Given the description of an element on the screen output the (x, y) to click on. 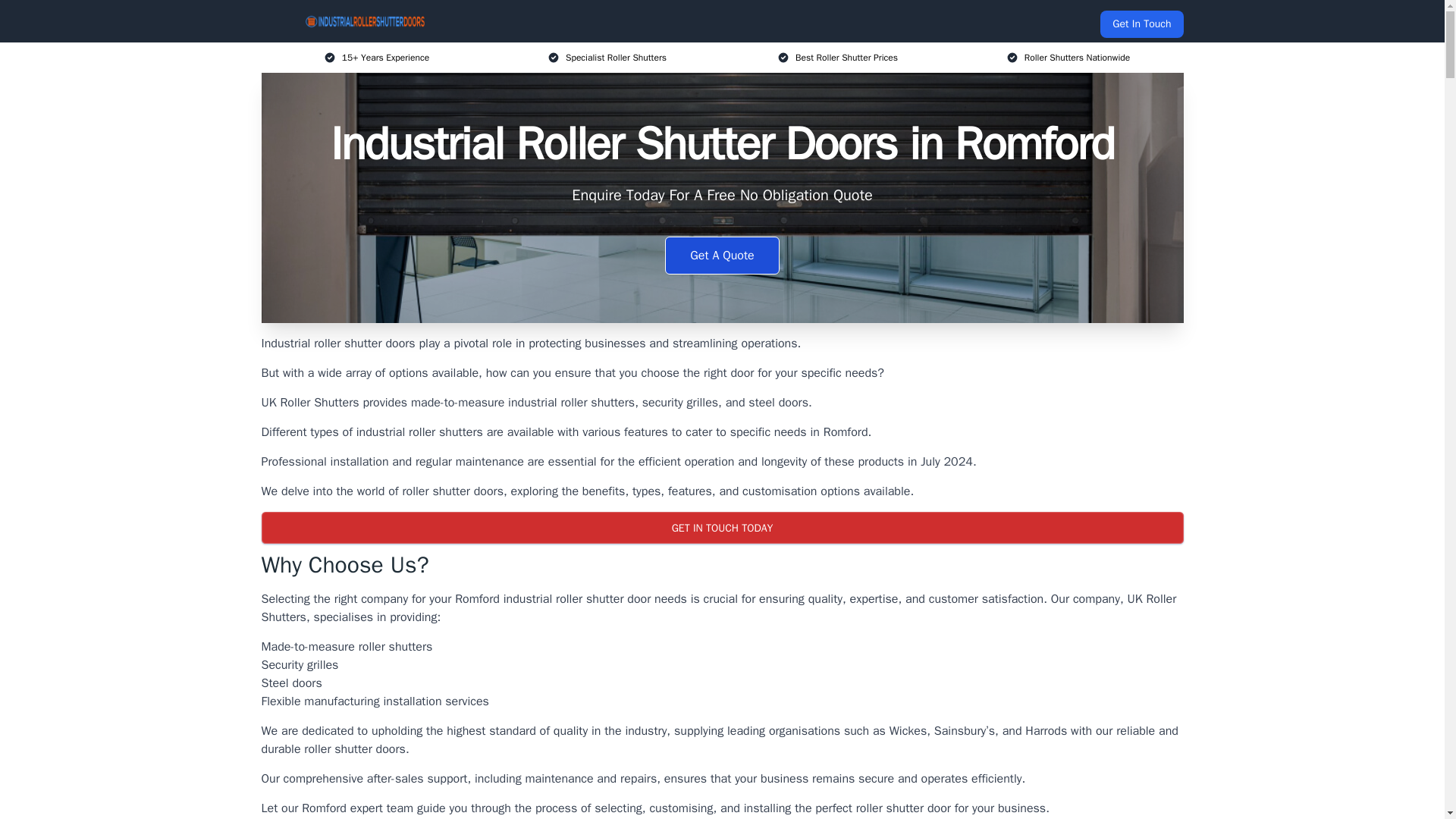
GET IN TOUCH TODAY (721, 527)
Get In Touch (1141, 23)
Get A Quote (721, 255)
